Given the description of an element on the screen output the (x, y) to click on. 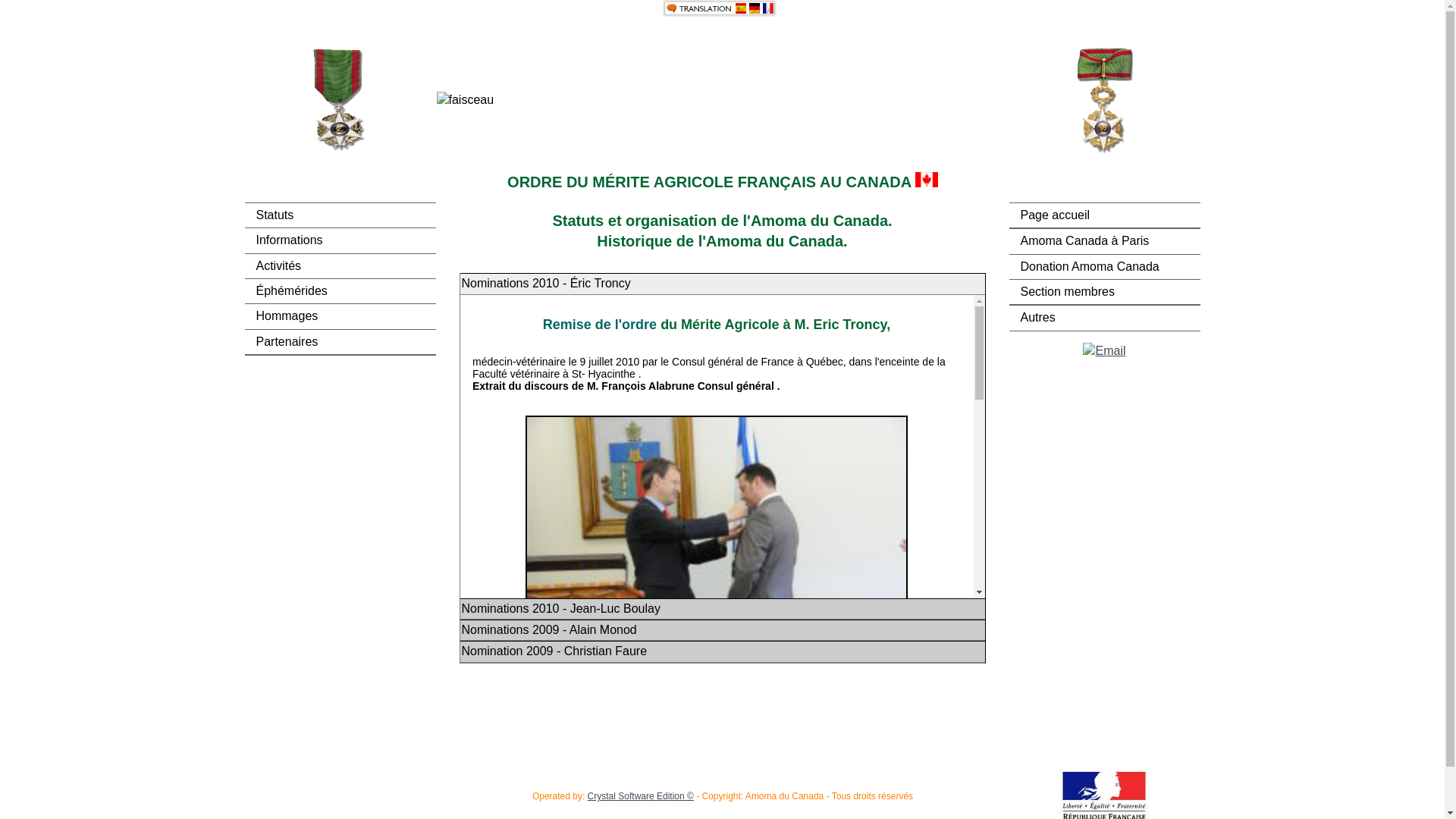
Autres Element type: text (1103, 317)
Page accueil Element type: text (1103, 215)
Donation Amoma Canada Element type: text (1103, 266)
Partenaires Element type: text (339, 341)
Statuts Element type: text (339, 215)
Informations Element type: text (339, 240)
Hommages Element type: text (339, 316)
Section membres Element type: text (1103, 291)
